Given the description of an element on the screen output the (x, y) to click on. 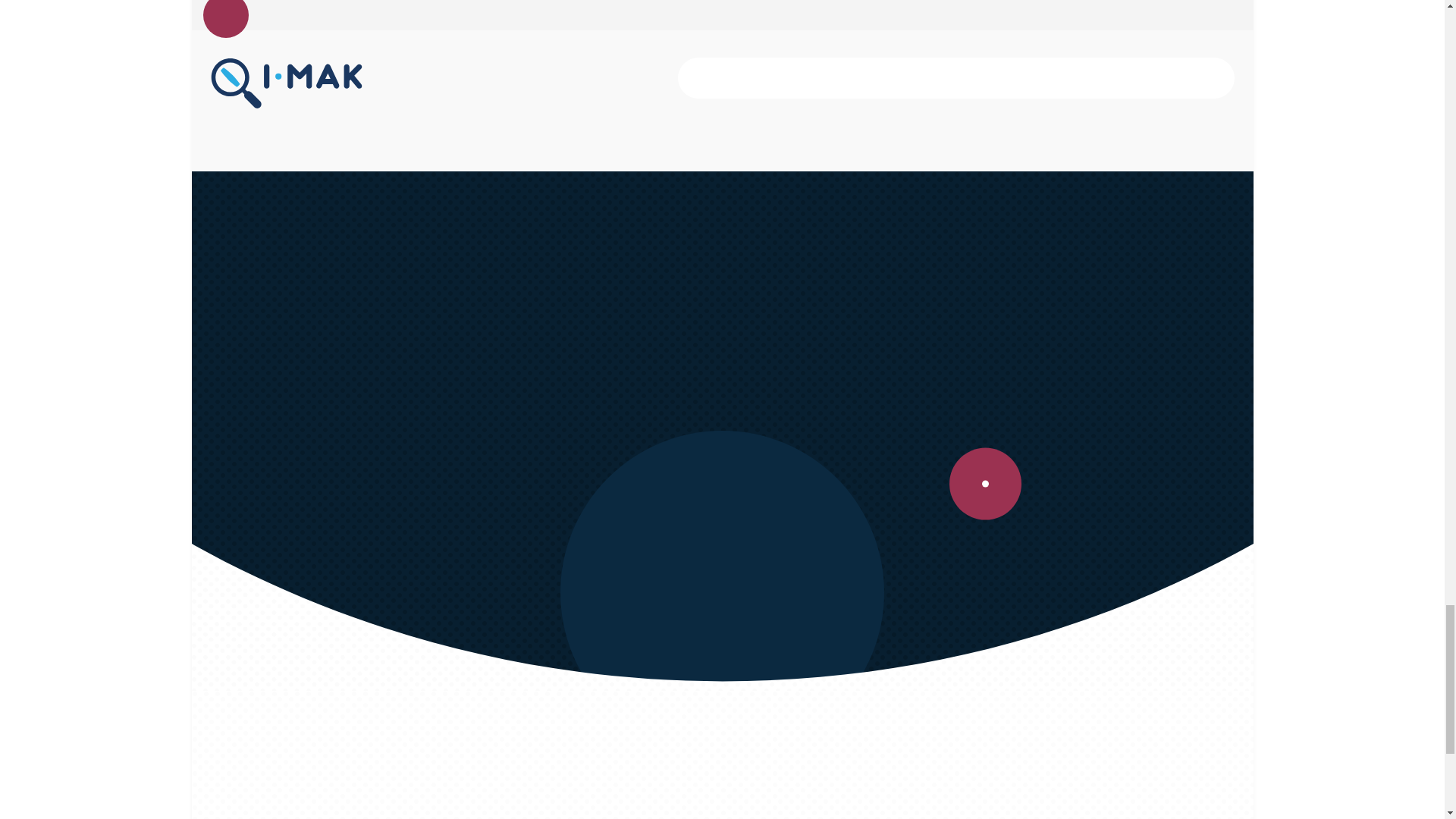
Join (943, 483)
